Given the description of an element on the screen output the (x, y) to click on. 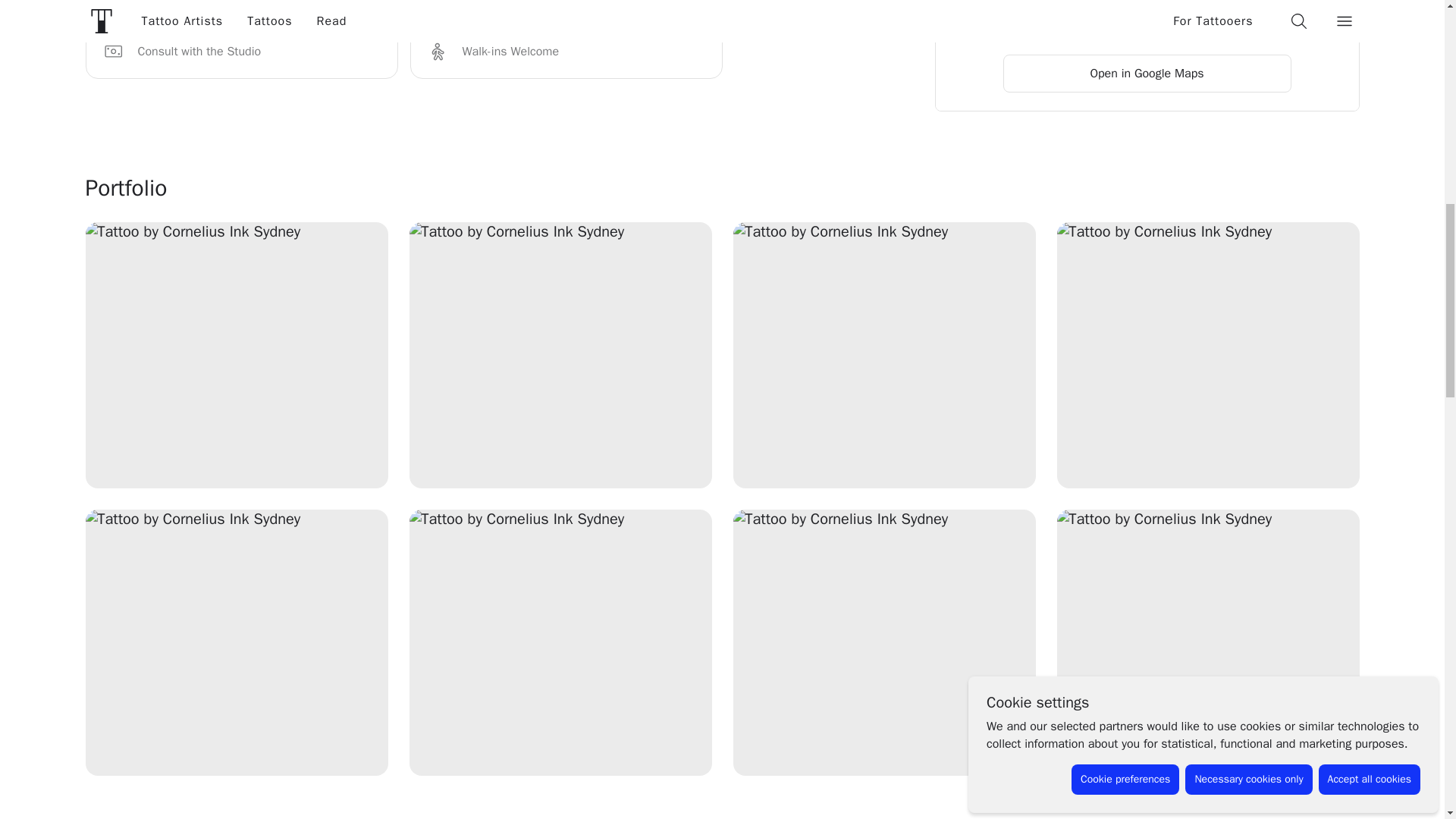
Open in Google Maps (1146, 73)
